Given the description of an element on the screen output the (x, y) to click on. 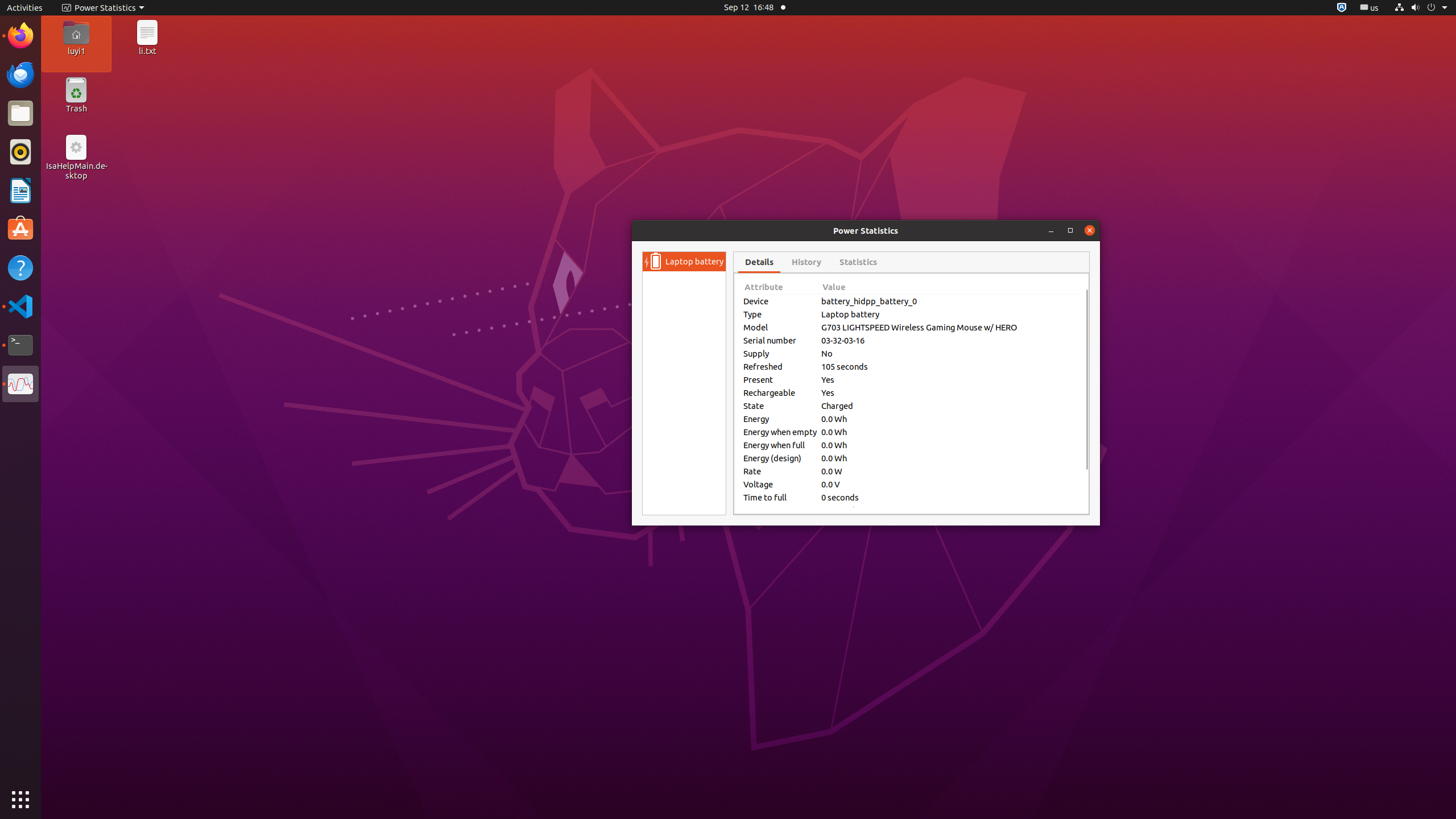
No Element type: table-cell (950, 353)
Power Statistics Element type: menu (102, 7)
li.txt Element type: label (146, 50)
Details Element type: page-tab (759, 261)
